Given the description of an element on the screen output the (x, y) to click on. 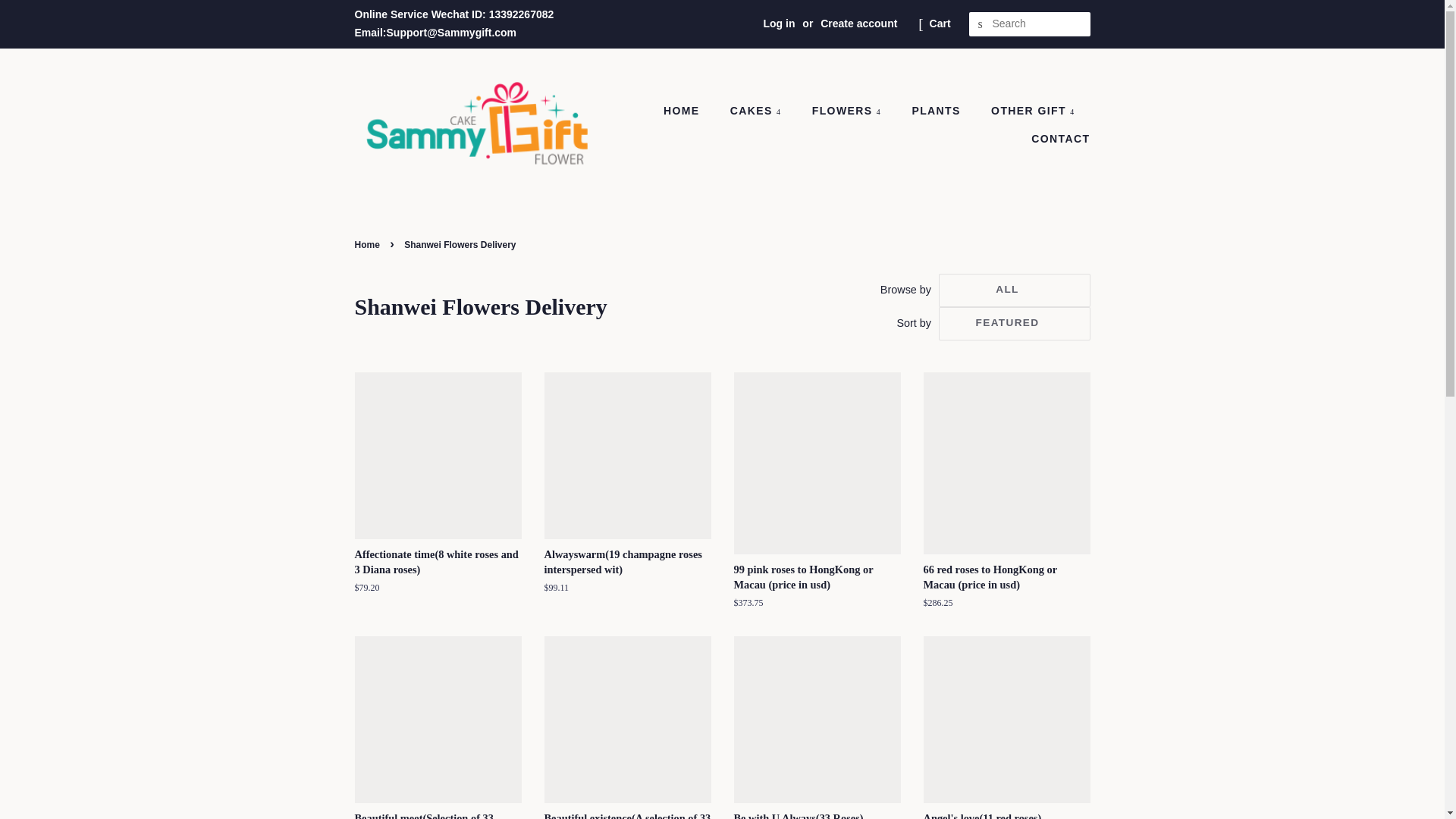
Log in (778, 23)
SEARCH (980, 24)
Cart (940, 24)
Create account (858, 23)
Back to the frontpage (369, 244)
